Given the description of an element on the screen output the (x, y) to click on. 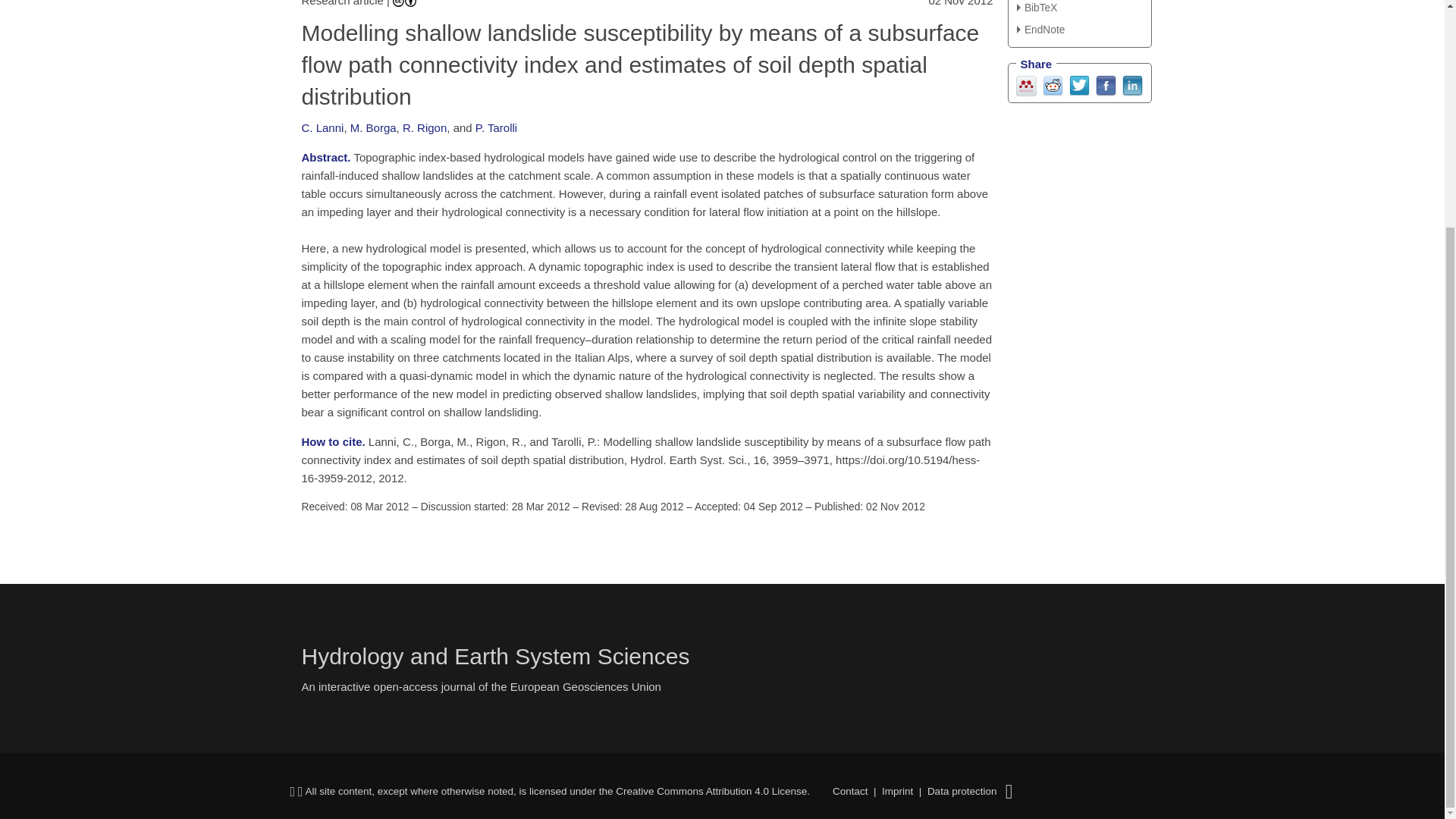
Facebook (1104, 83)
Twitter (1078, 83)
Reddit (1052, 83)
Mendeley (1026, 83)
